Given the description of an element on the screen output the (x, y) to click on. 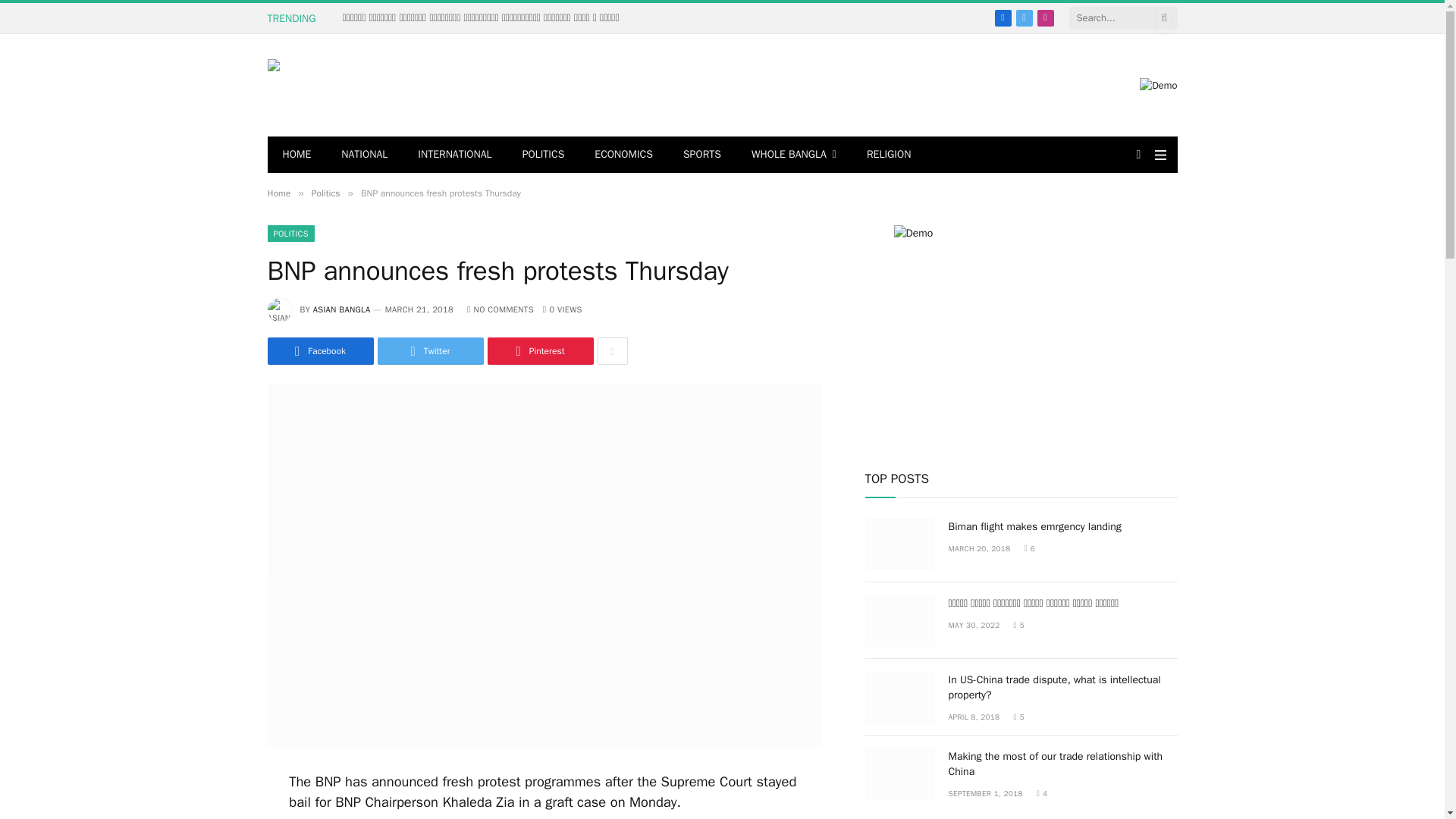
POLITICS (542, 154)
Instagram (1045, 17)
Switch to Dark Design - easier on eyes. (1138, 154)
Posts by Asian Bangla (342, 308)
asianbangla.com (389, 85)
HOME (296, 154)
Share on Facebook (319, 350)
INTERNATIONAL (454, 154)
WHOLE BANGLA (793, 154)
Share on Pinterest (539, 350)
Facebook (1002, 17)
ECONOMICS (623, 154)
Share on Twitter (430, 350)
0 Article Views (562, 308)
NATIONAL (364, 154)
